Given the description of an element on the screen output the (x, y) to click on. 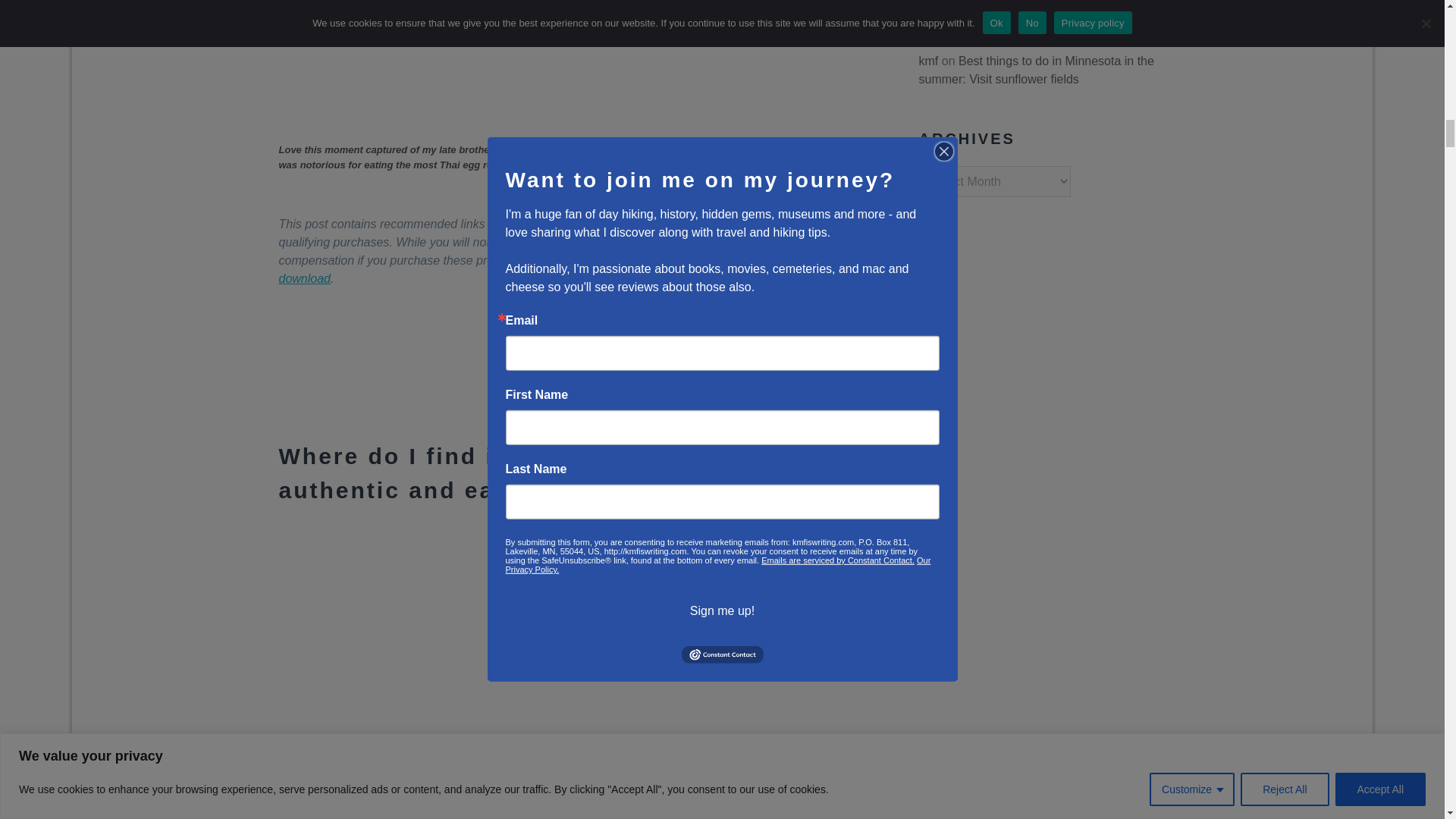
GetYourGuide Widget (579, 381)
